Given the description of an element on the screen output the (x, y) to click on. 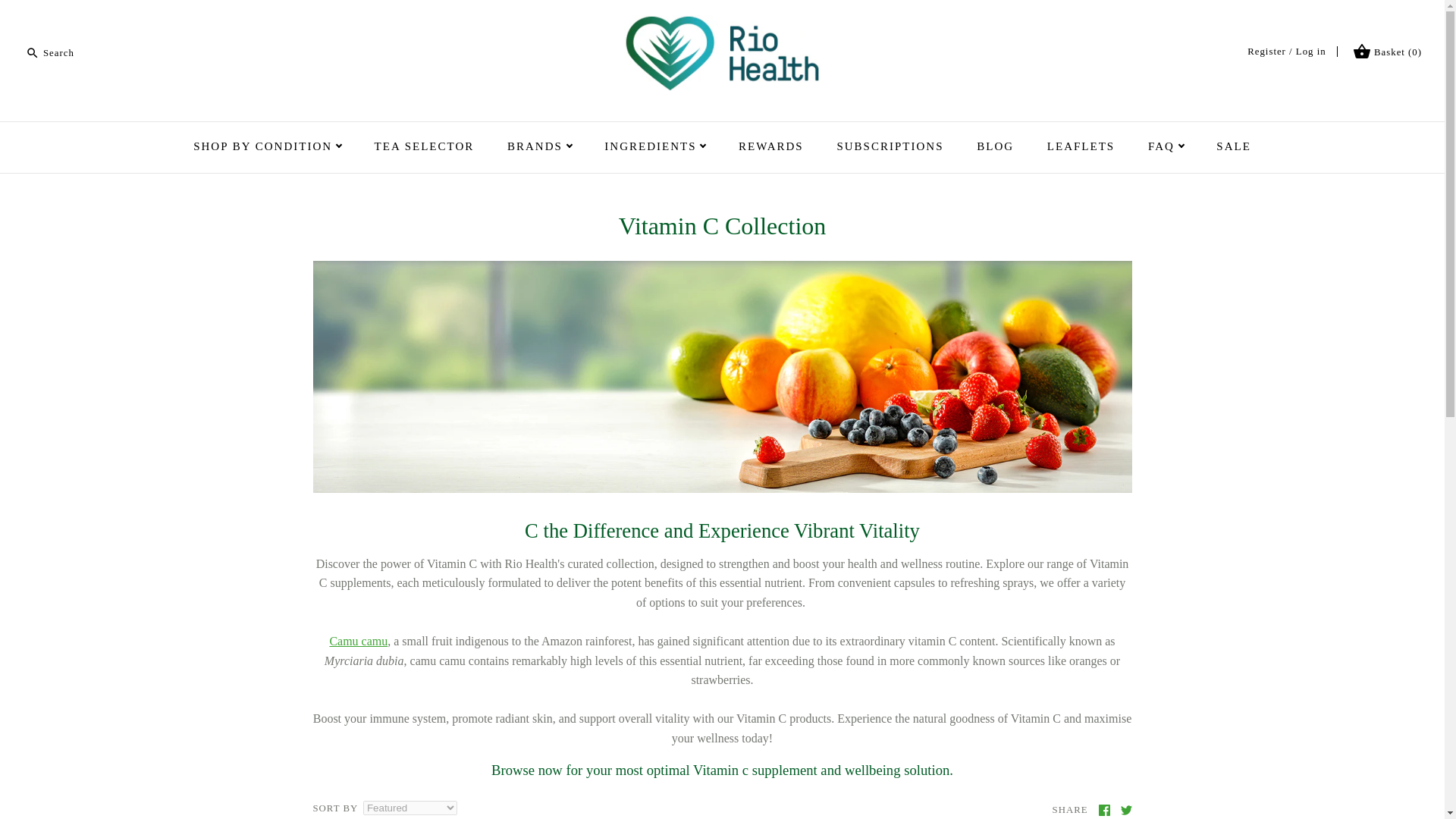
Register (1266, 50)
camu camu (358, 640)
Twitter (1126, 809)
Rio Health (722, 24)
Facebook (1103, 809)
Log in (1310, 50)
Cart (1361, 51)
Share on Facebook (1103, 809)
Share on Twitter (1126, 809)
